Given the description of an element on the screen output the (x, y) to click on. 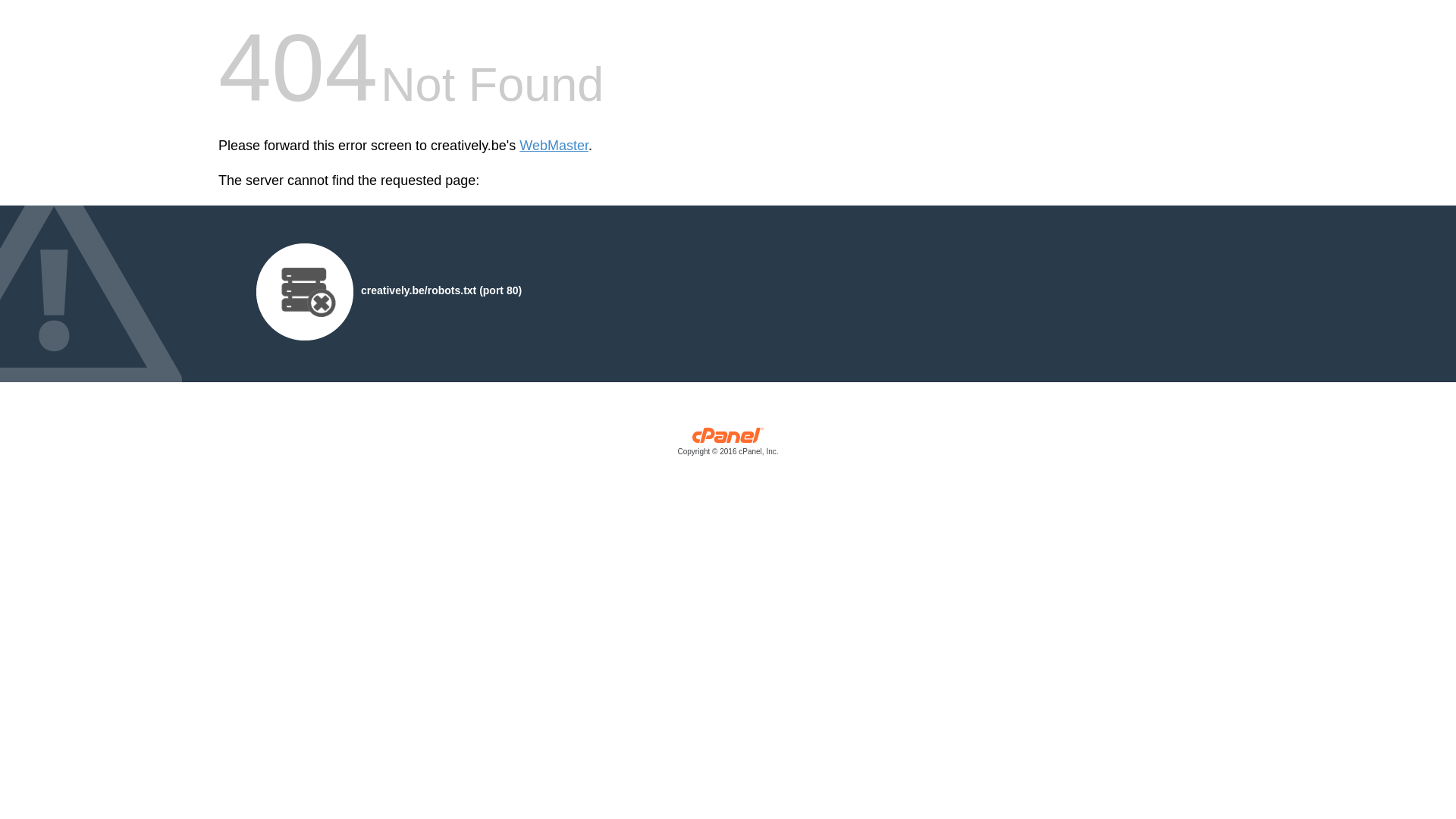
WebMaster Element type: text (553, 145)
